Given the description of an element on the screen output the (x, y) to click on. 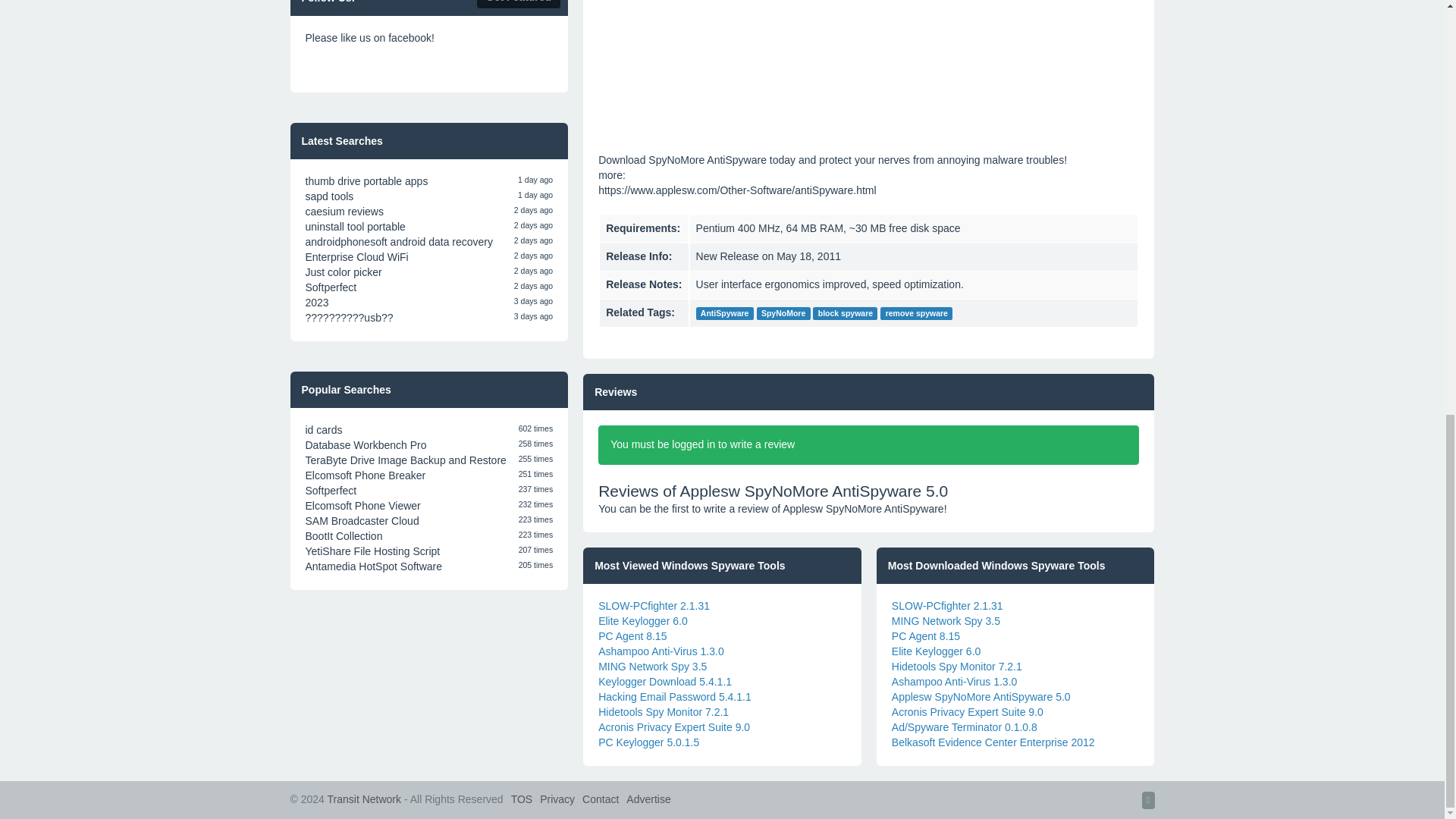
SLOW-PCfighter 2.1.31 (654, 605)
Elite Keylogger 6.0 (642, 621)
Ashampoo Anti-Virus 1.3.0 (660, 651)
Keylogger Download 5.4.1.1 (665, 681)
PC Agent 8.15 (632, 635)
Advertisement (868, 61)
MING Network Spy 3.5 (652, 666)
AntiSpyware (724, 313)
block spyware (844, 313)
remove spyware (916, 313)
Hacking Email Password 5.4.1.1 (674, 696)
Get Featured (518, 4)
Hidetools Spy Monitor 7.2.1 (663, 711)
SpyNoMore (783, 313)
